Given the description of an element on the screen output the (x, y) to click on. 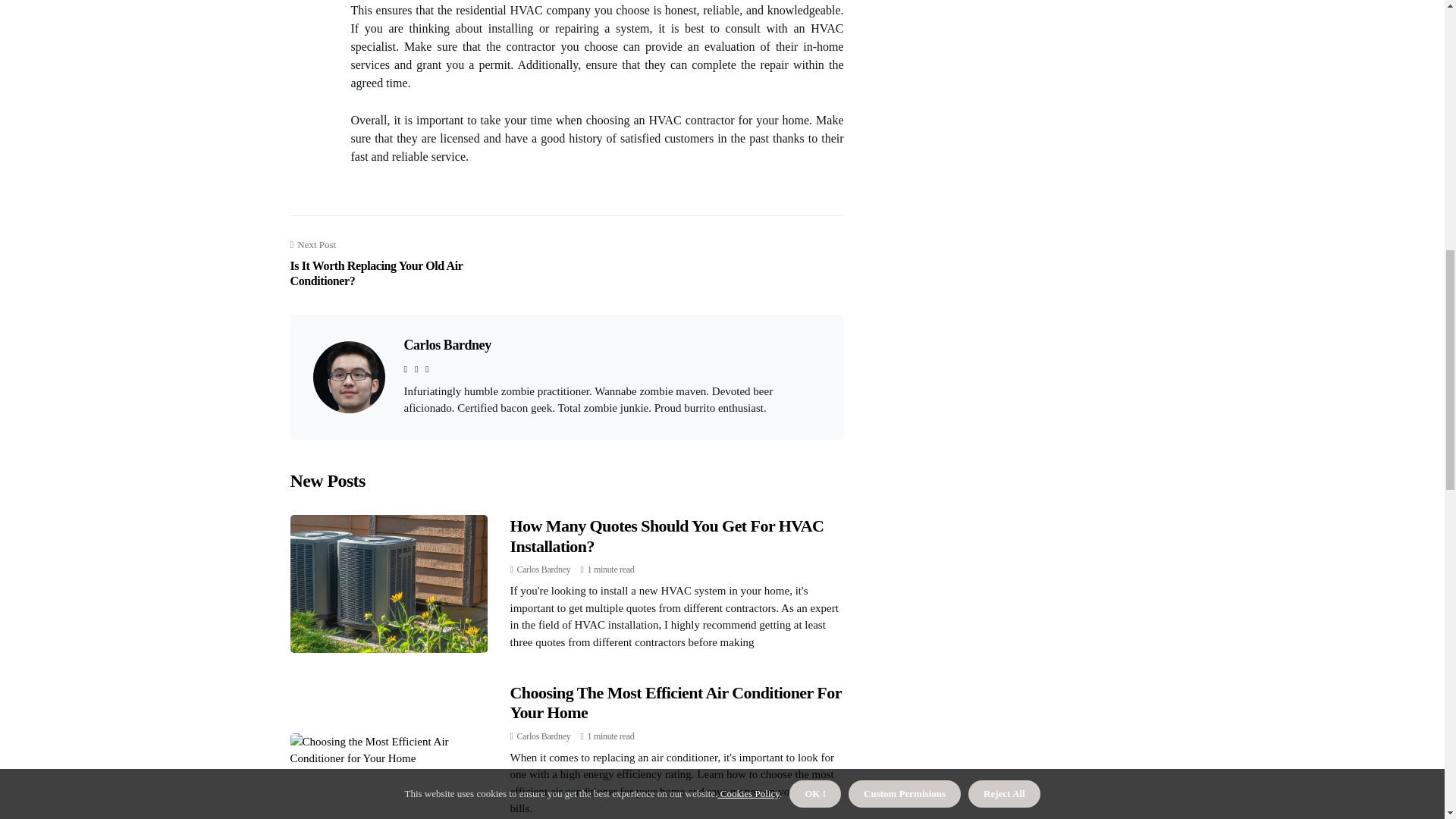
Choosing The Most Efficient Air Conditioner For Your Home (675, 702)
Carlos Bardney (543, 569)
Carlos Bardney (543, 736)
How Many Quotes Should You Get For HVAC Installation? (666, 535)
Posts by Carlos Bardney (543, 569)
Posts by Carlos Bardney (543, 736)
Carlos Bardney (446, 344)
